Given the description of an element on the screen output the (x, y) to click on. 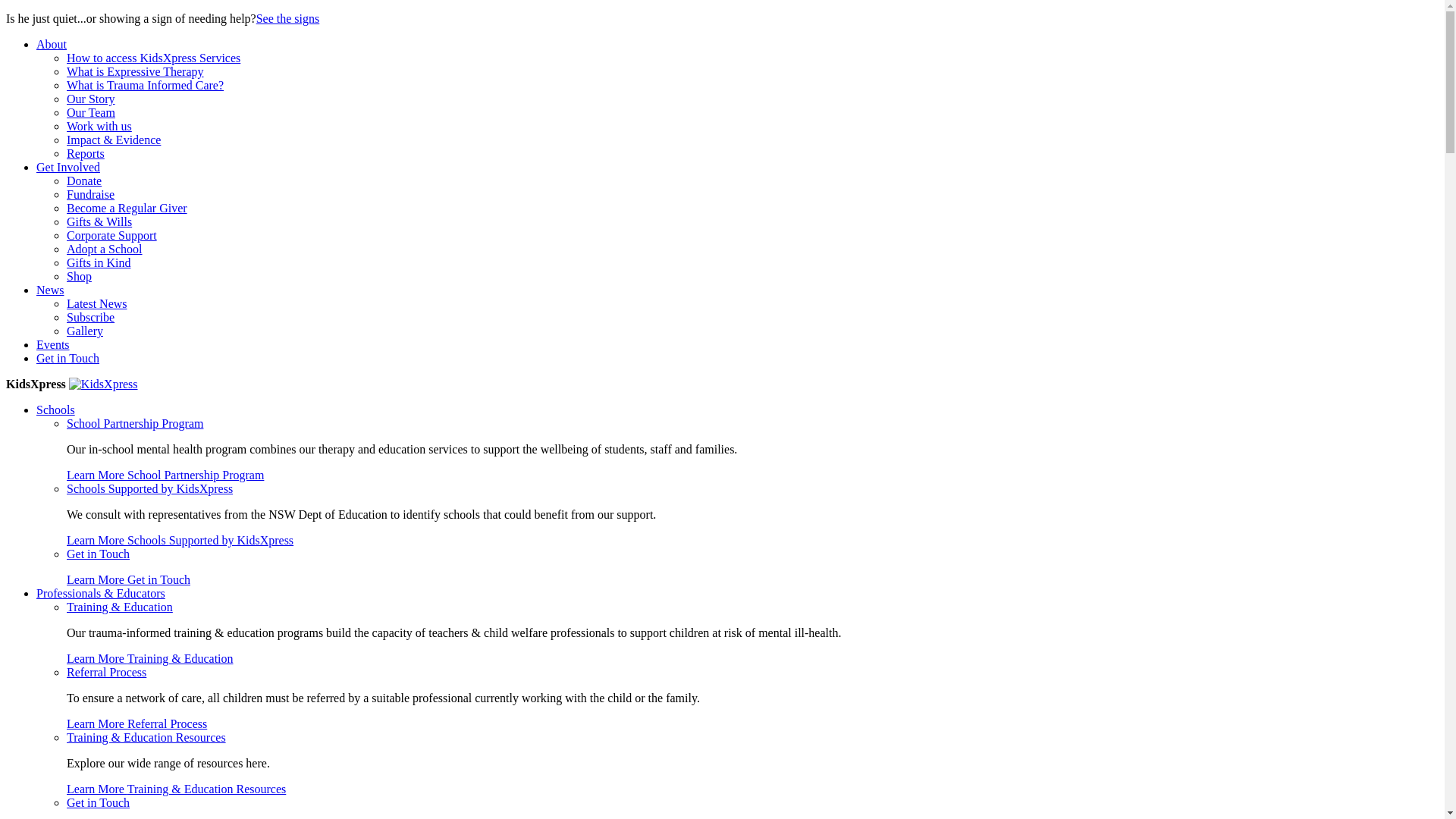
Impact & Evidence Element type: text (113, 139)
Gifts in Kind Element type: text (98, 262)
Learn More Schools Supported by KidsXpress Element type: text (179, 539)
Latest News Element type: text (96, 303)
Learn More Referral Process Element type: text (136, 723)
Shop Element type: text (78, 275)
Our Team Element type: text (90, 112)
Donate Element type: text (83, 180)
Our Story Element type: text (90, 98)
Adopt a School Element type: text (104, 248)
Referral Process Element type: text (106, 671)
Get in Touch Element type: text (97, 802)
Learn More School Partnership Program Element type: text (164, 474)
Become a Regular Giver Element type: text (126, 207)
School Partnership Program Element type: text (134, 423)
Corporate Support Element type: text (111, 235)
Schools Element type: text (55, 409)
How to access KidsXpress Services Element type: text (153, 57)
Reports Element type: text (85, 153)
What is Expressive Therapy Element type: text (134, 71)
Learn More Training & Education Element type: text (149, 658)
Learn More Get in Touch Element type: text (128, 579)
Get Involved Element type: text (68, 166)
Professionals & Educators Element type: text (100, 592)
Get in Touch Element type: text (97, 553)
What is Trauma Informed Care? Element type: text (144, 84)
See the signs Element type: text (288, 18)
Work with us Element type: text (98, 125)
Fundraise Element type: text (90, 194)
Get in Touch Element type: text (67, 357)
Schools Supported by KidsXpress Element type: text (149, 488)
Training & Education Resources Element type: text (145, 737)
Learn More Training & Education Resources Element type: text (175, 788)
Gifts & Wills Element type: text (98, 221)
News Element type: text (49, 289)
Subscribe Element type: text (90, 316)
Training & Education Element type: text (119, 606)
About Element type: text (51, 43)
Gallery Element type: text (84, 330)
Events Element type: text (52, 344)
